Given the description of an element on the screen output the (x, y) to click on. 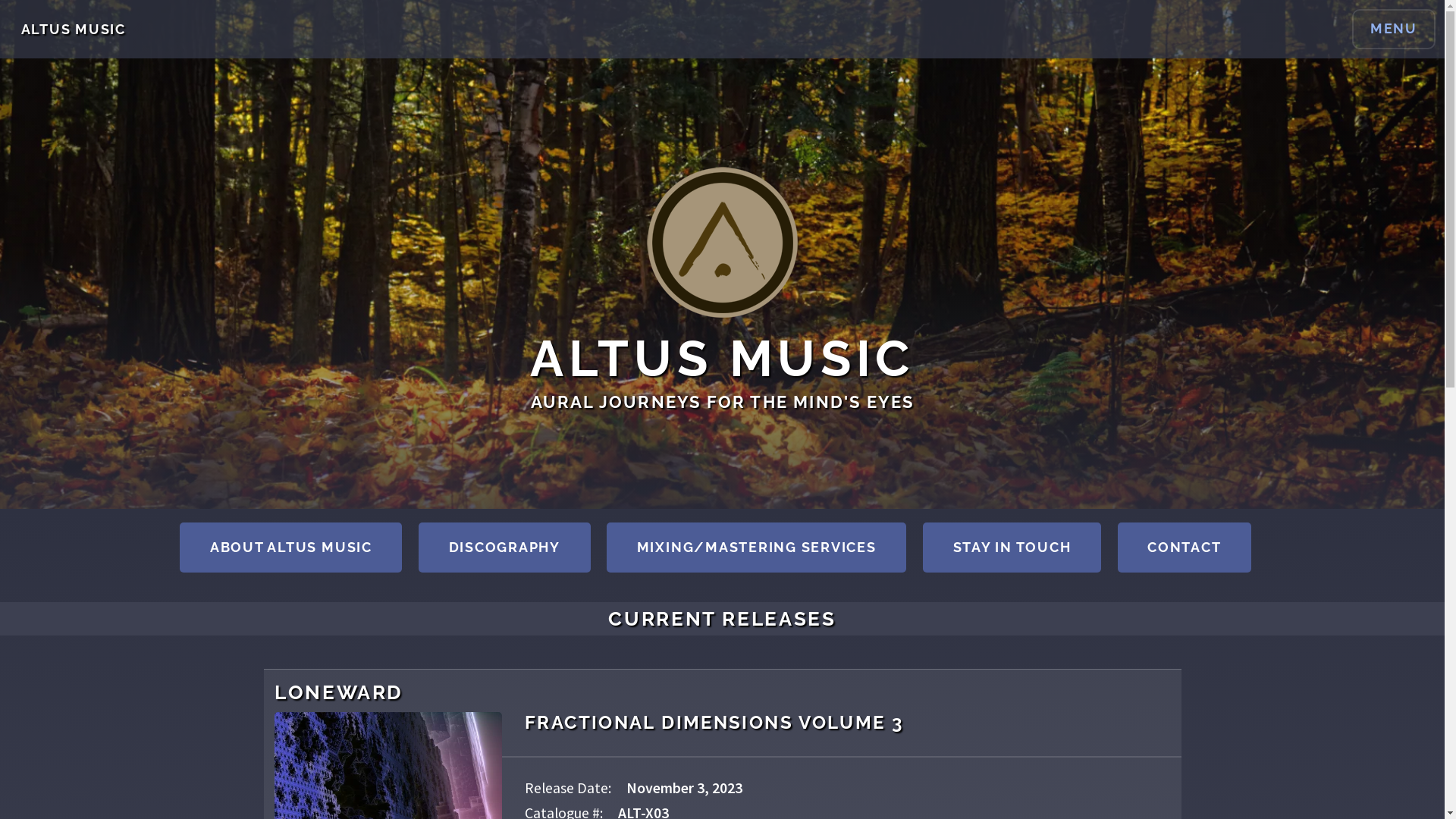
ABOUT ALTUS MUSIC Element type: text (290, 547)
MIXING/MASTERING SERVICES Element type: text (756, 547)
STAY IN TOUCH Element type: text (1011, 547)
DISCOGRAPHY Element type: text (504, 547)
CONTACT Element type: text (1184, 547)
MENU Element type: text (1393, 29)
ALTUS MUSIC Element type: text (73, 29)
